Given the description of an element on the screen output the (x, y) to click on. 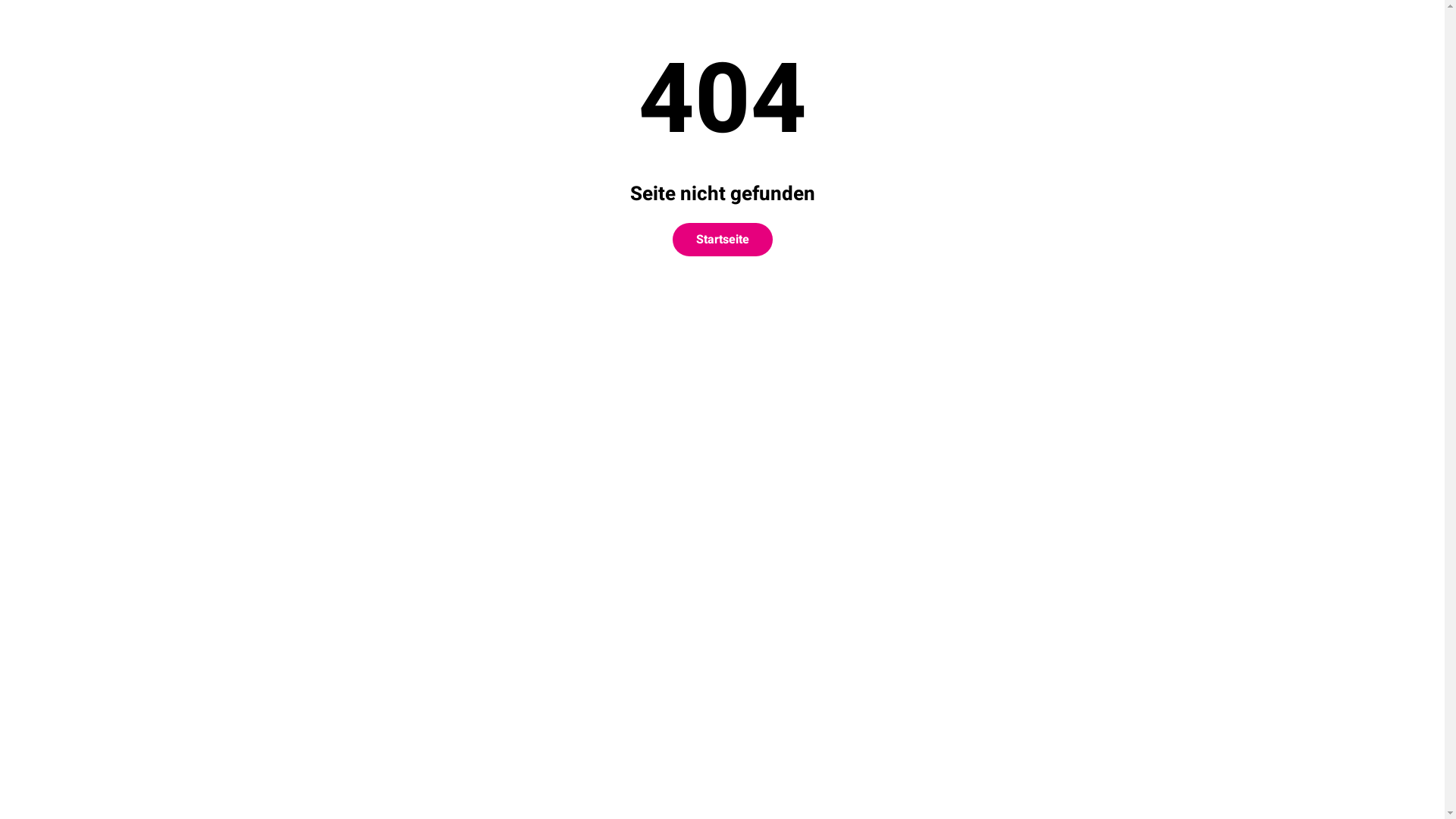
Startseite Element type: text (721, 239)
